Given the description of an element on the screen output the (x, y) to click on. 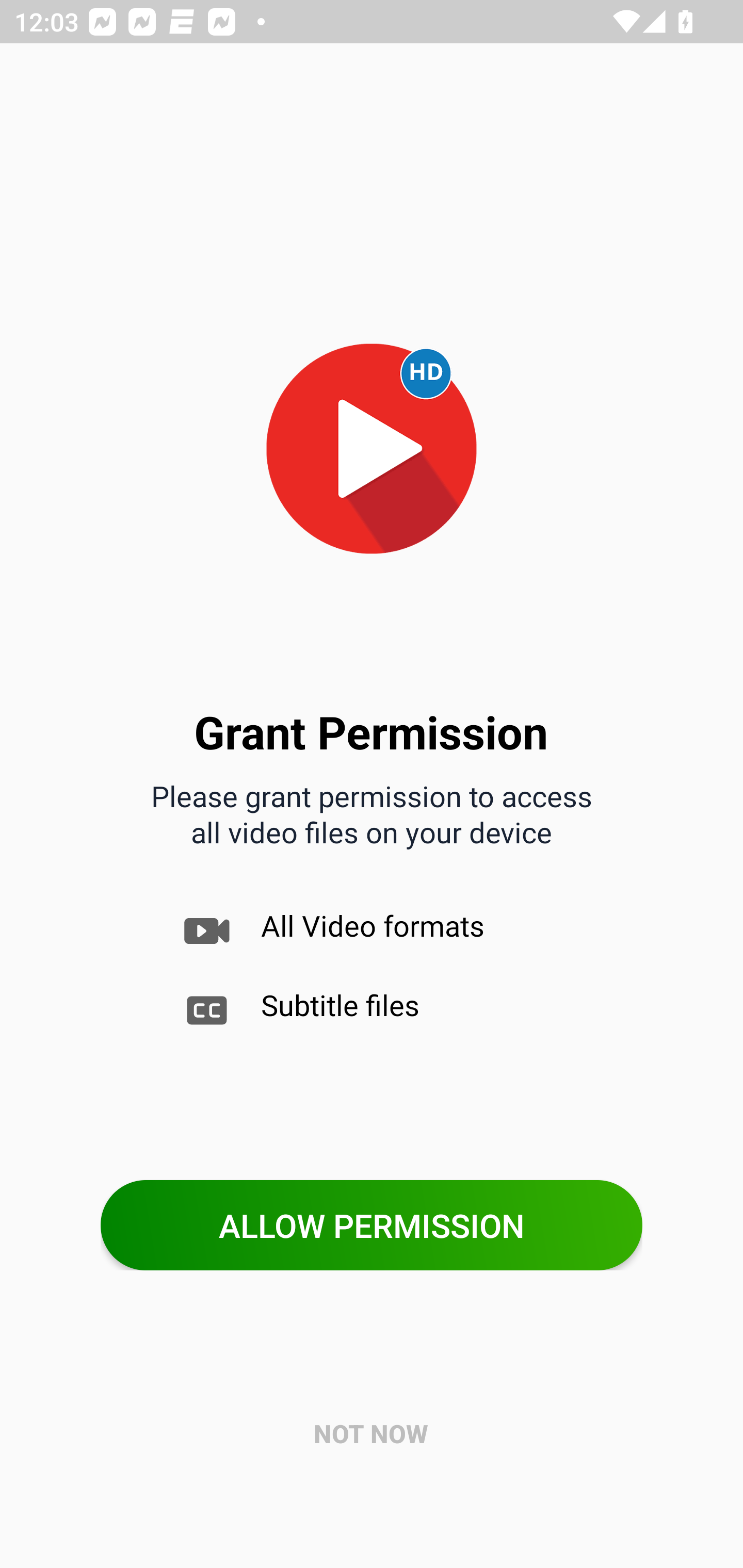
ALLOW PERMISSION (371, 1225)
NOT NOW (371, 1433)
